Given the description of an element on the screen output the (x, y) to click on. 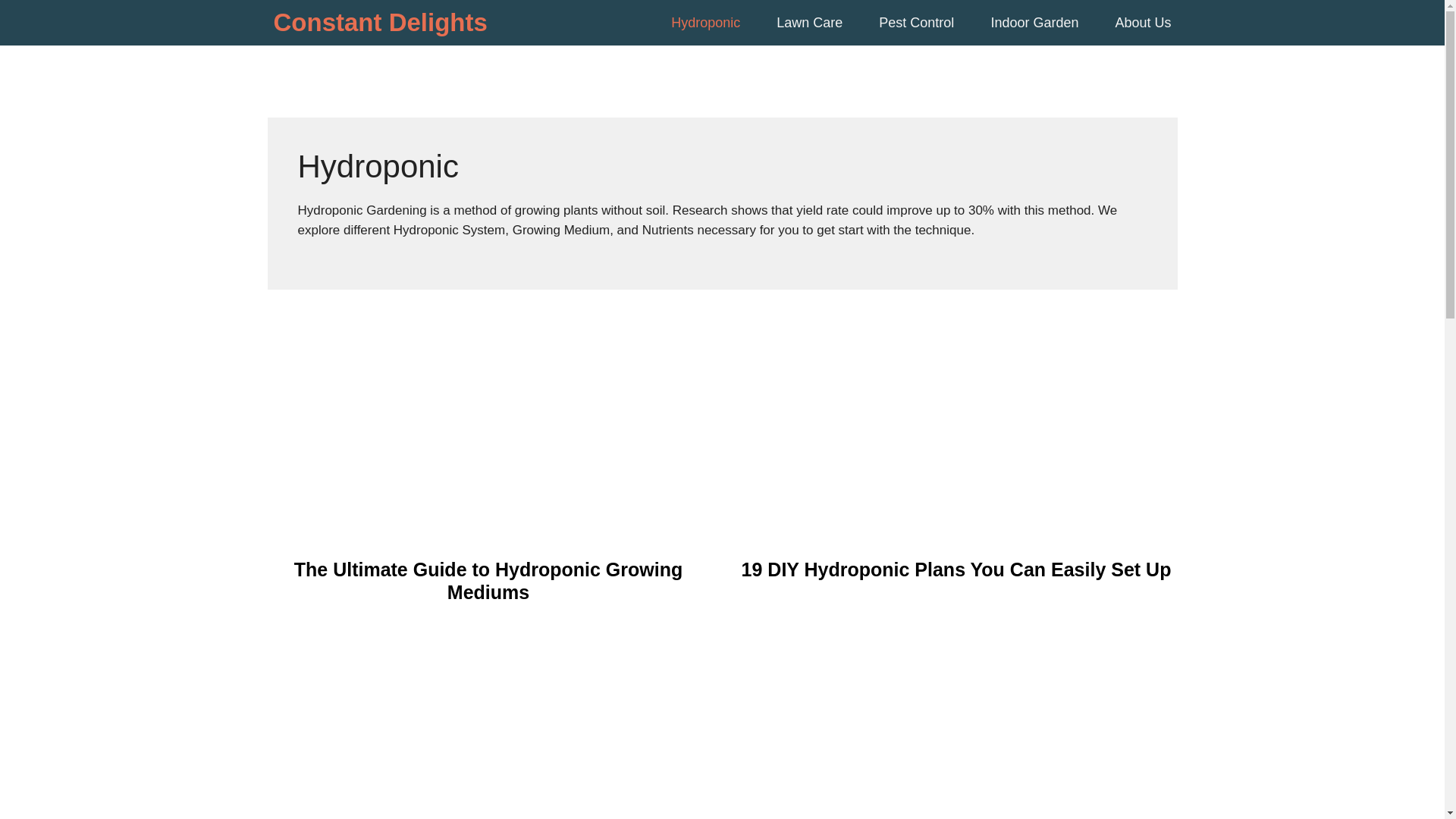
Pest Control (913, 22)
Constant Delights (379, 22)
Indoor Garden (1031, 22)
The Ultimate Guide to Hydroponic Growing Mediums (488, 580)
19 DIY Hydroponic Plans You Can Easily Set Up (956, 568)
Hydroponic (702, 22)
Lawn Care (806, 22)
About Us (1131, 22)
